Given the description of an element on the screen output the (x, y) to click on. 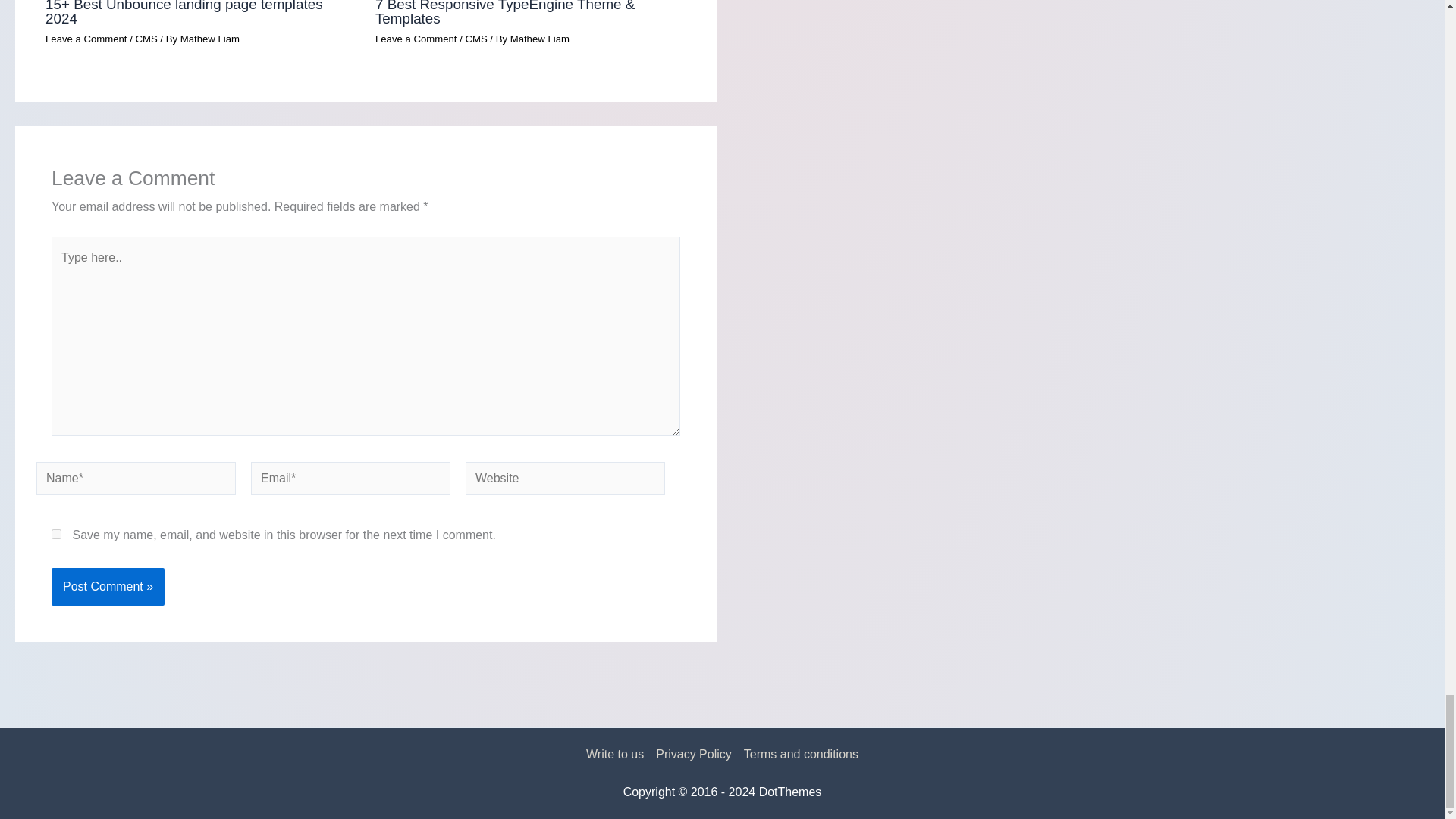
View all posts by Mathew Liam (210, 39)
View all posts by Mathew Liam (540, 39)
yes (55, 533)
